Given the description of an element on the screen output the (x, y) to click on. 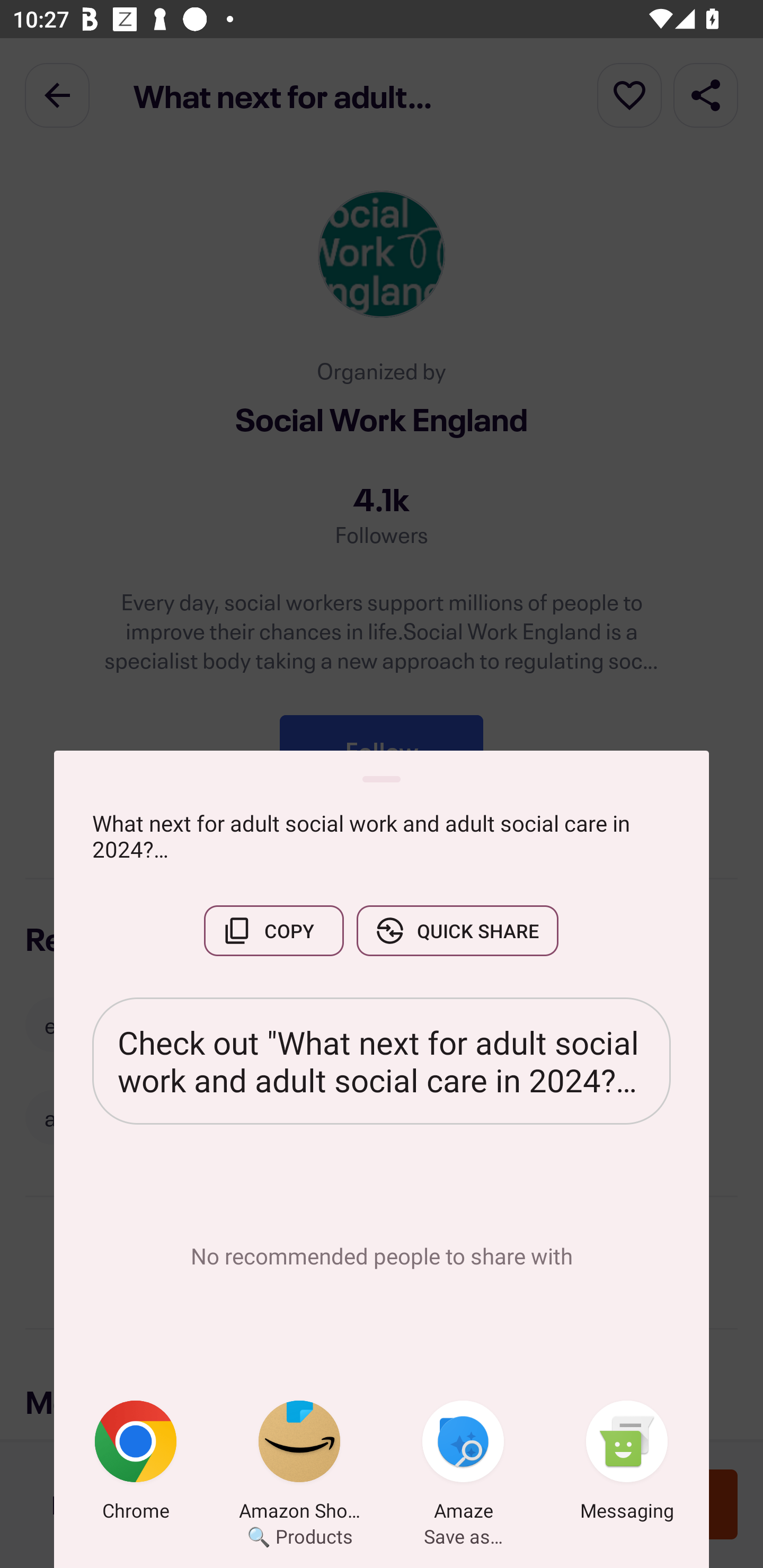
COPY (273, 930)
QUICK SHARE (457, 930)
Chrome (135, 1463)
Amazon Shopping 🔍 Products (299, 1463)
Amaze Save as… (463, 1463)
Messaging (626, 1463)
